Given the description of an element on the screen output the (x, y) to click on. 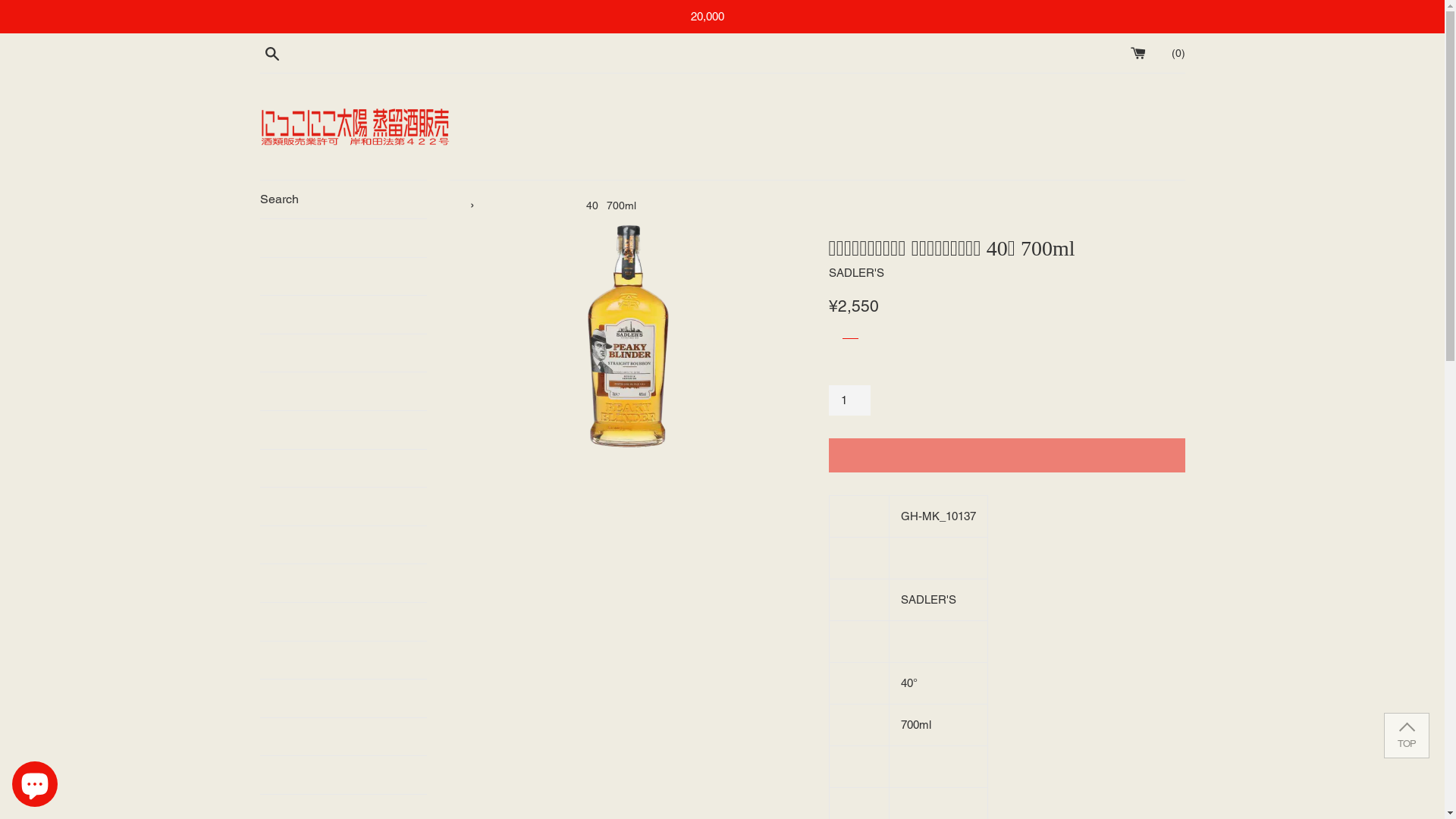
Search Element type: text (342, 199)
TOP Element type: text (1406, 735)
